Given the description of an element on the screen output the (x, y) to click on. 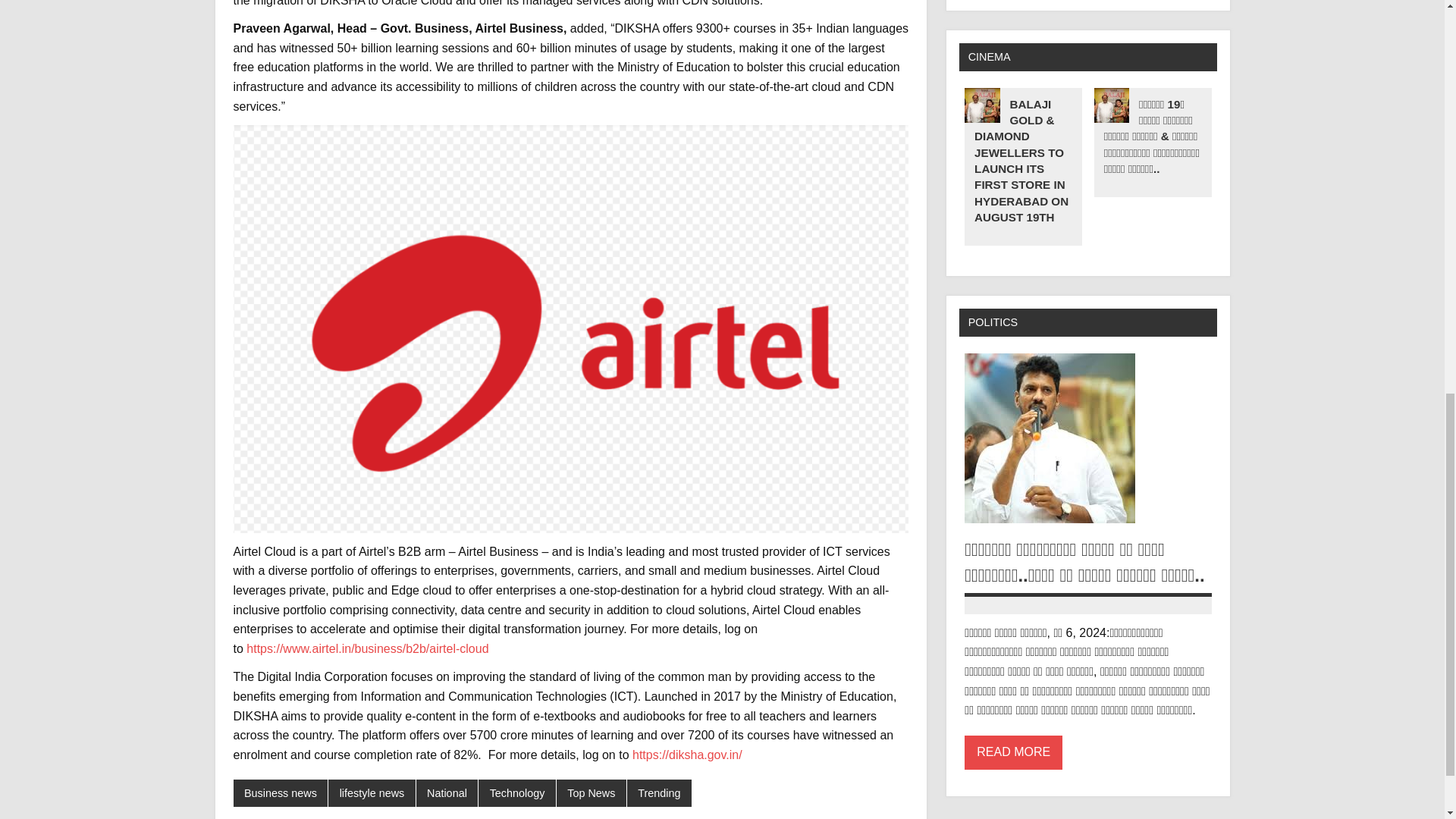
National (447, 792)
Technology (517, 792)
Trending (659, 792)
lifestyle news (371, 792)
Business news (280, 792)
Top News (591, 792)
